Given the description of an element on the screen output the (x, y) to click on. 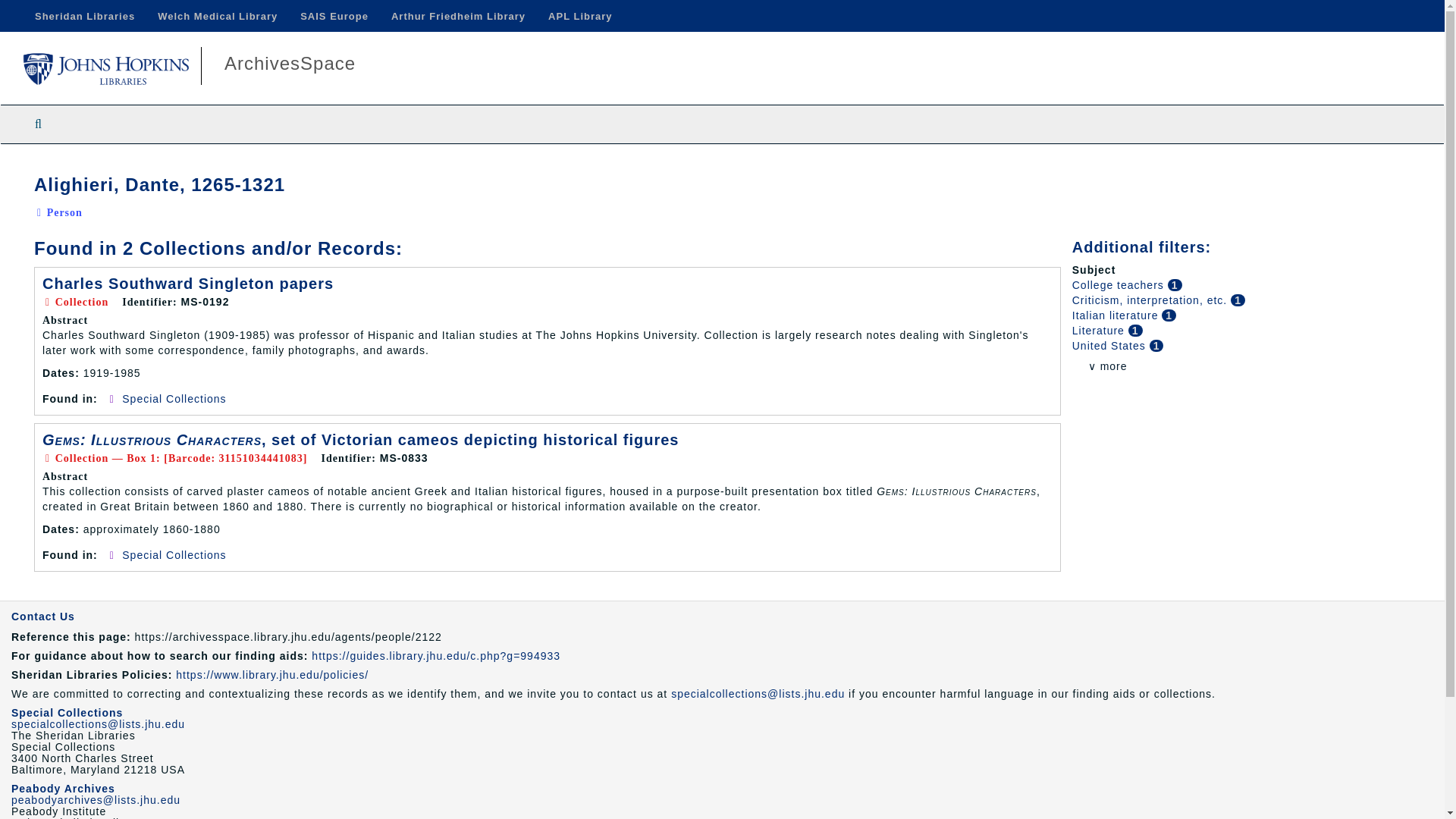
Filter By 'Criticism, interpretation, etc.' (1150, 300)
Arthur Friedheim Library (458, 15)
Special Collections (173, 398)
Special Collections (173, 554)
United States (1110, 345)
Page Actions (1130, 167)
Filter By 'Italian literature' (1116, 315)
Peabody Archives (63, 788)
Charles Southward Singleton papers (187, 283)
Filter By 'Literature' (1099, 330)
APL Library (580, 15)
SAIS Europe (334, 15)
Criticism, interpretation, etc. (1150, 300)
Special Collections (66, 712)
